Given the description of an element on the screen output the (x, y) to click on. 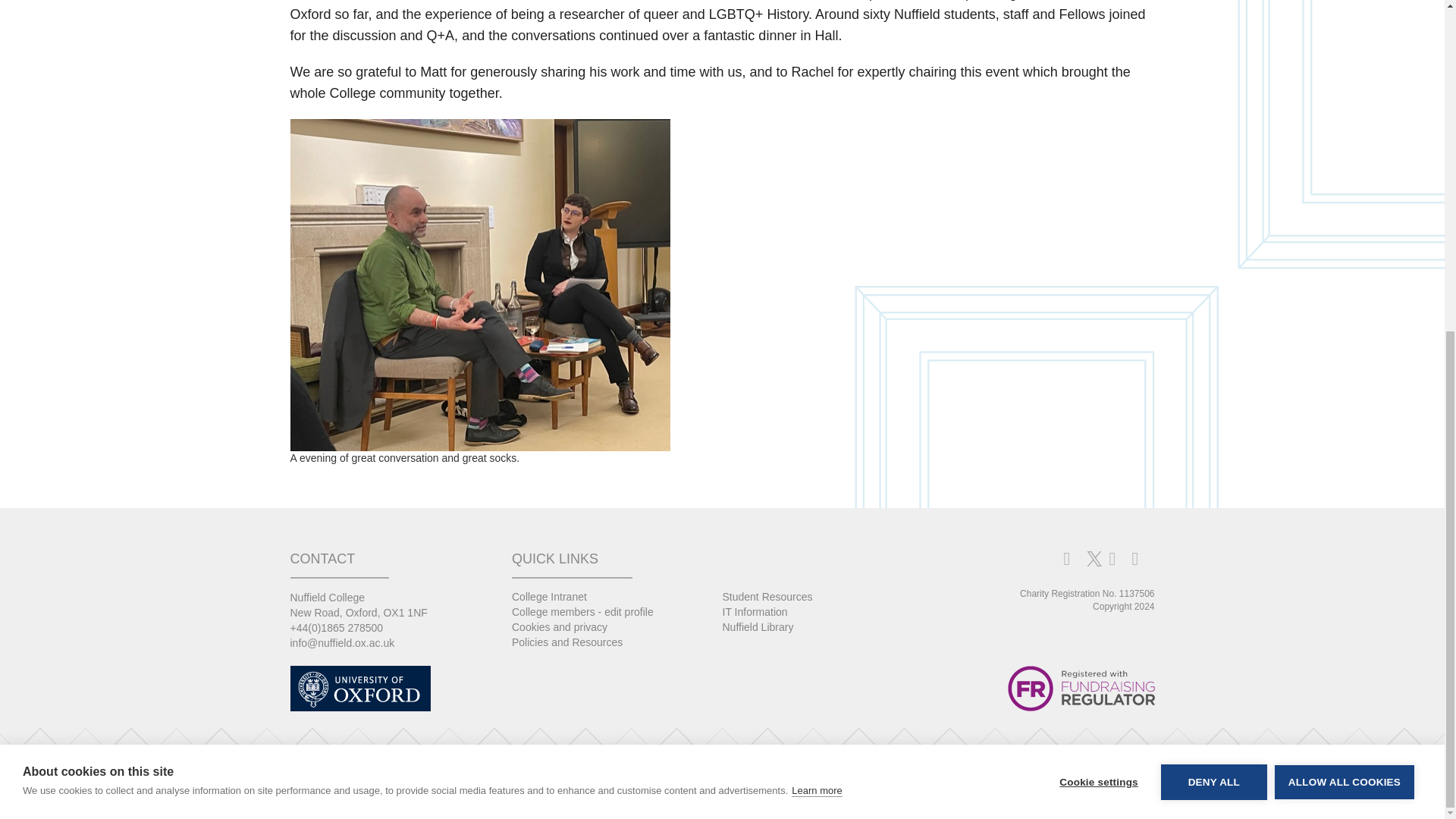
Learn more (816, 306)
Cookie settings (1098, 289)
DENY ALL (1213, 271)
ALLOW ALL COOKIES (1344, 262)
